Given the description of an element on the screen output the (x, y) to click on. 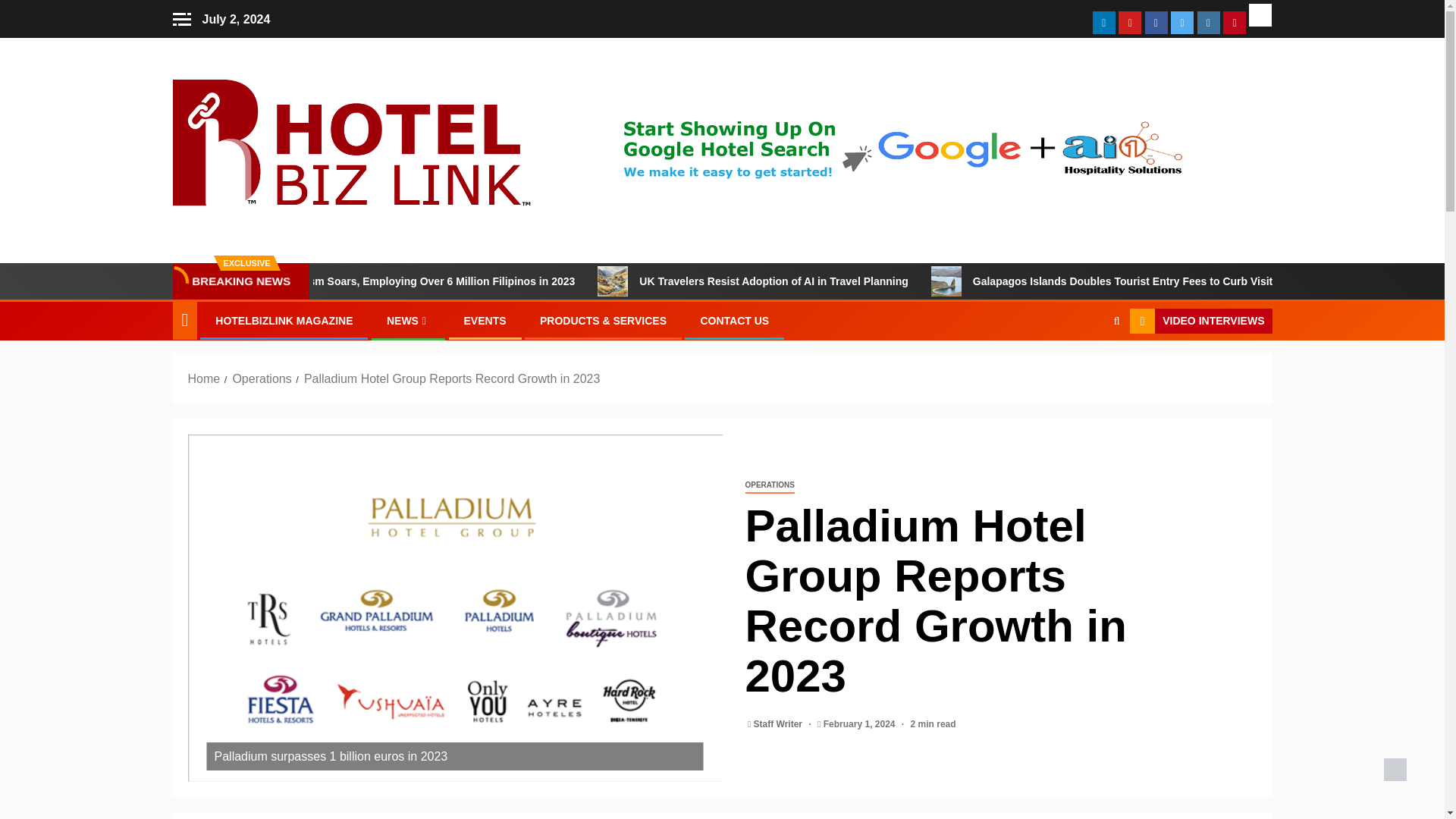
Search (1115, 320)
